Given the description of an element on the screen output the (x, y) to click on. 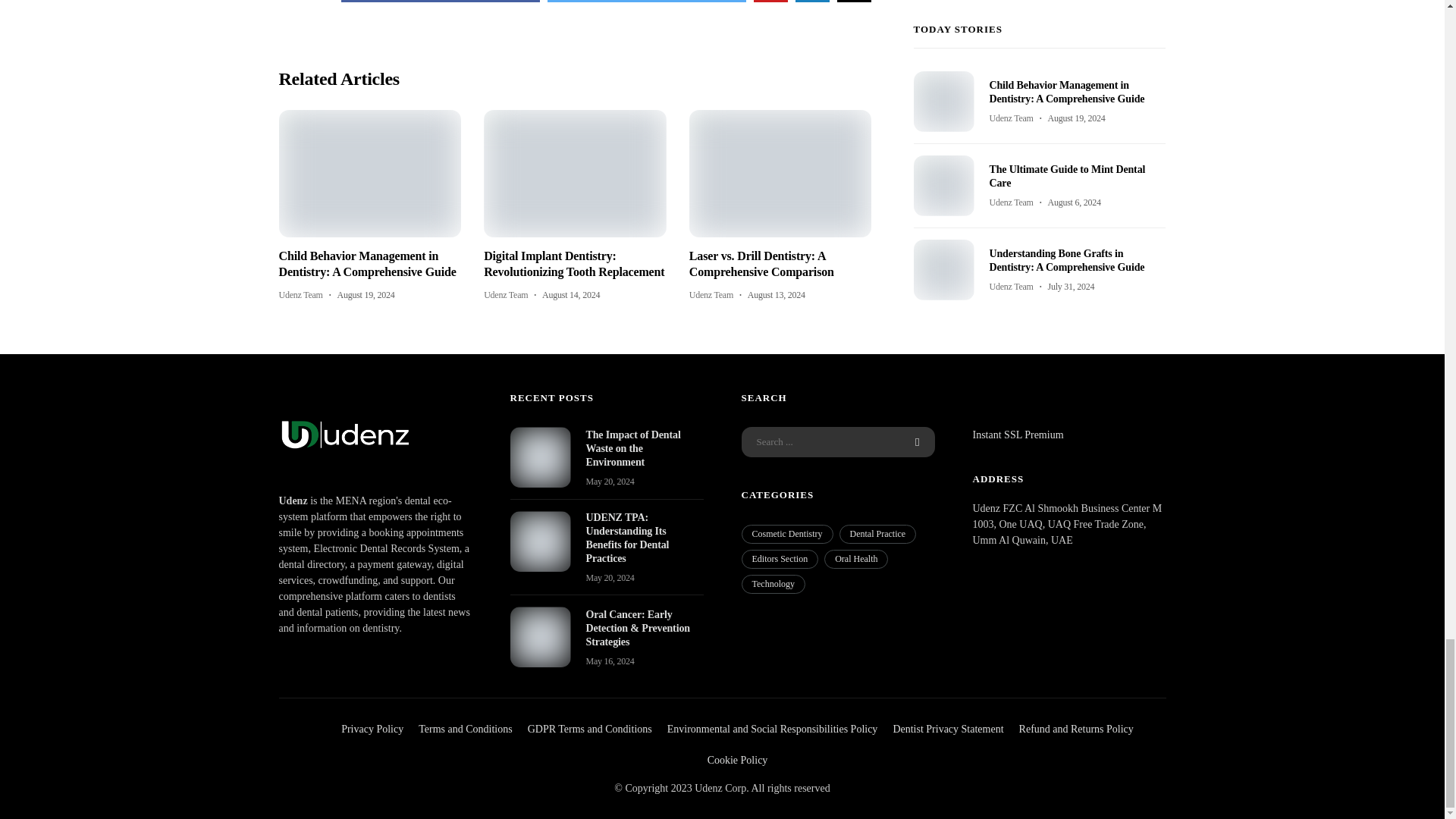
Posts by Udenz Team (505, 294)
Posts by Udenz Team (710, 294)
Posts by Udenz Team (301, 294)
